Given the description of an element on the screen output the (x, y) to click on. 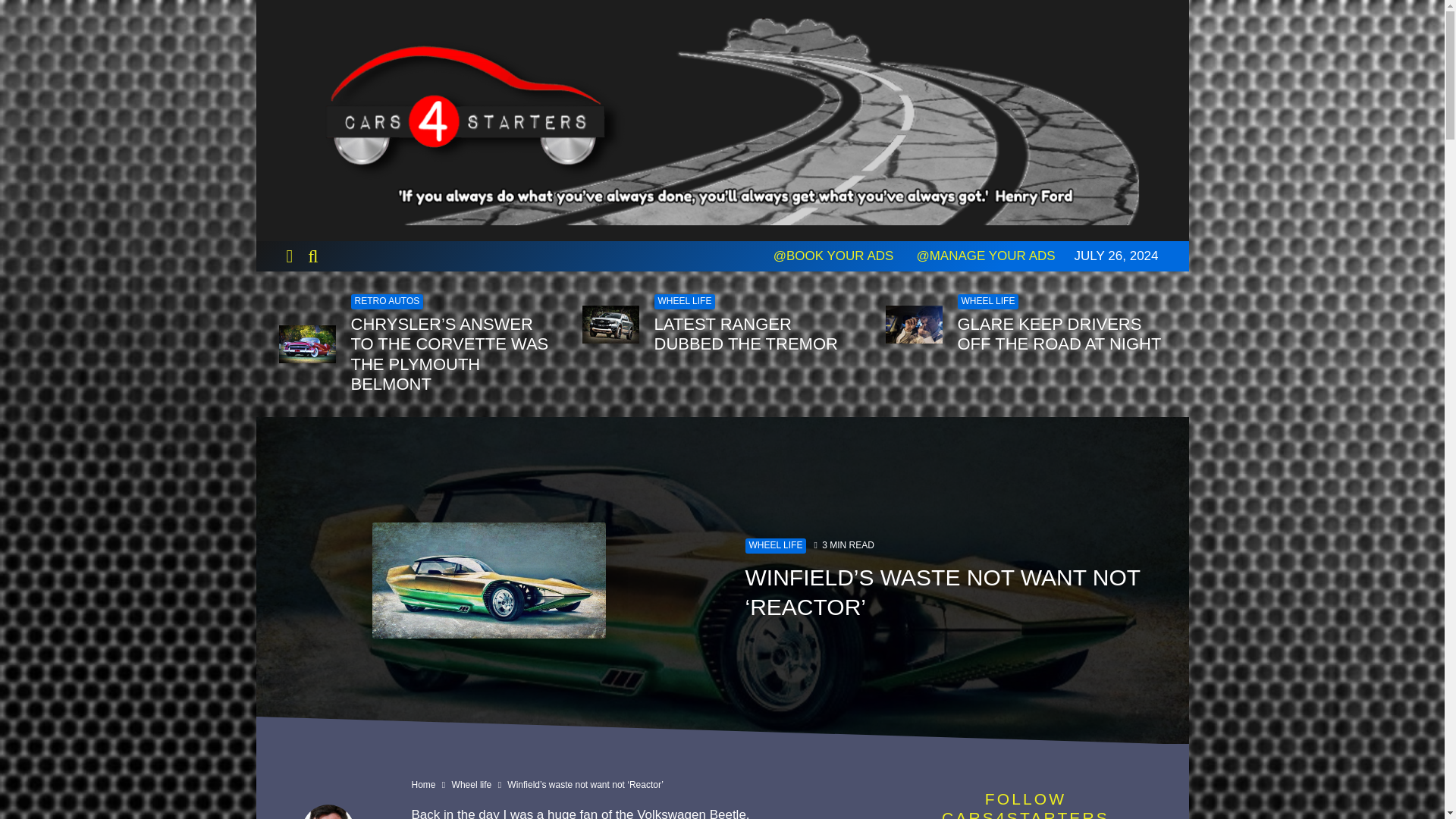
LATEST RANGER DUBBED THE TREMOR (757, 334)
Home (422, 784)
RETRO AUTOS (386, 301)
Winfield's waste not want not 'Reactor' 5 (488, 580)
WHEEL LIFE (775, 545)
WHEEL LIFE (683, 301)
WHEEL LIFE (986, 301)
Wheel life (471, 784)
GLARE KEEP DRIVERS OFF THE ROAD AT NIGHT (1061, 334)
